Given the description of an element on the screen output the (x, y) to click on. 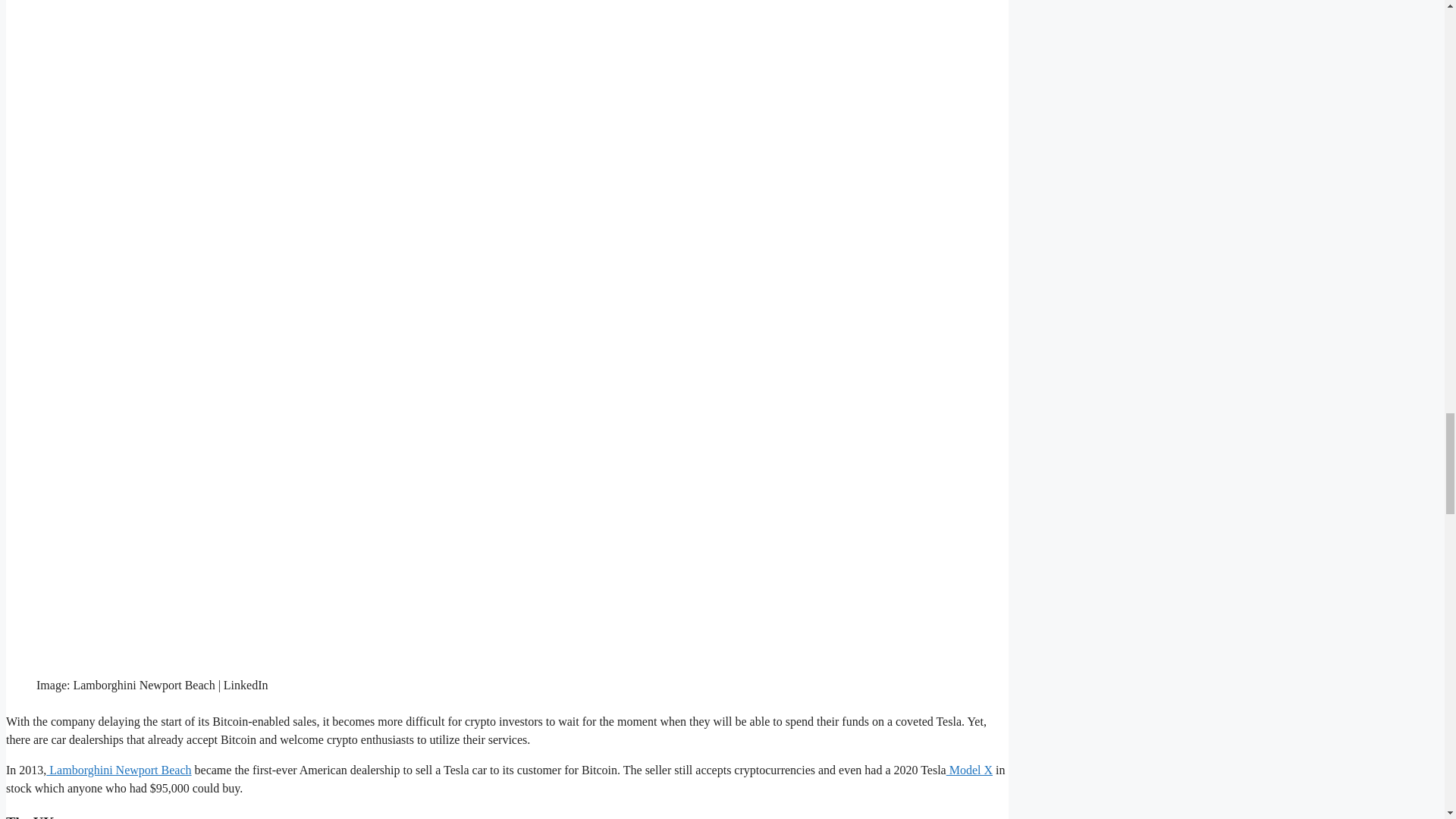
Lamborghini Newport Beach (118, 769)
Model X (969, 769)
